Given the description of an element on the screen output the (x, y) to click on. 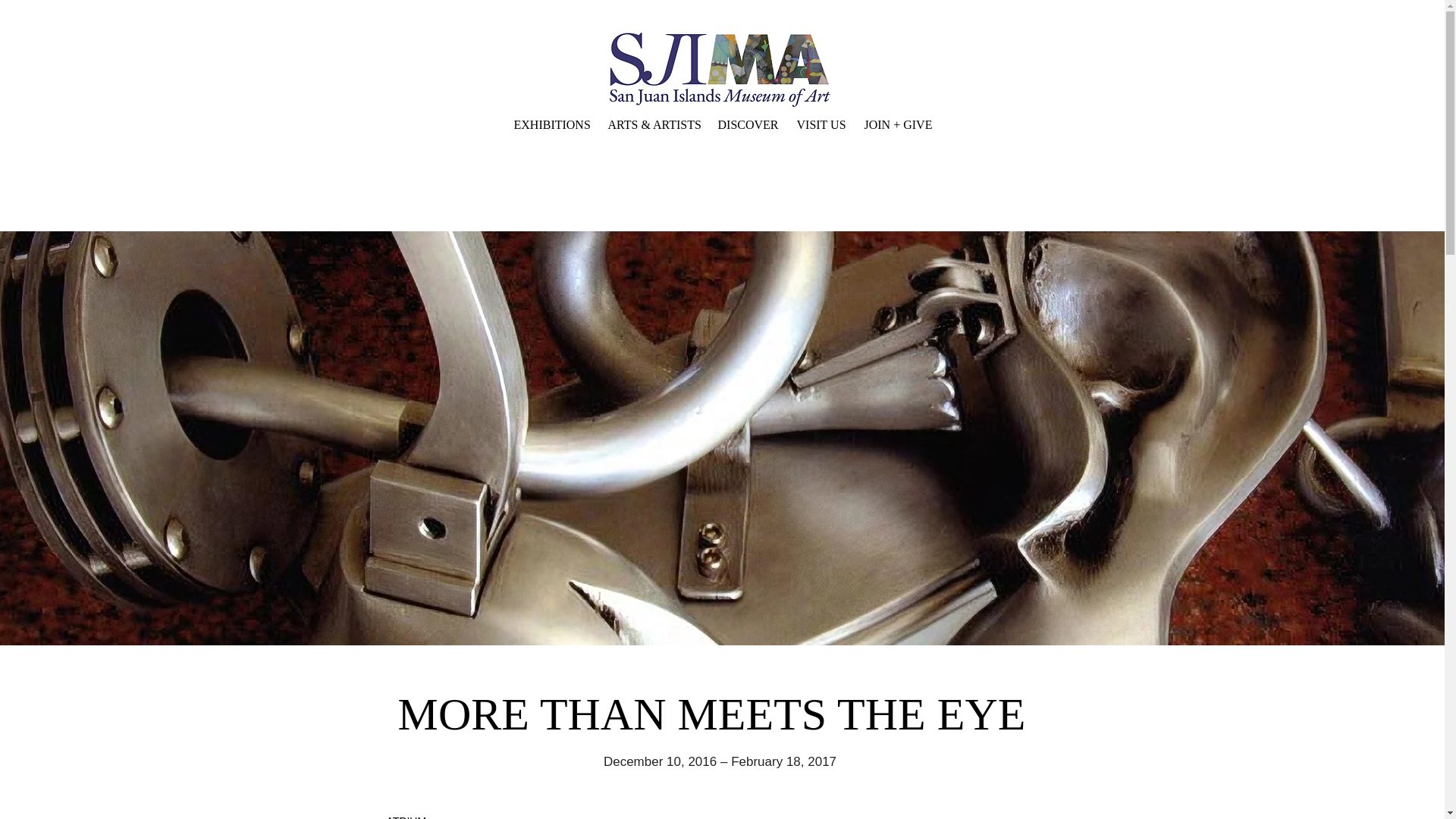
EXHIBITIONS (548, 124)
